Given the description of an element on the screen output the (x, y) to click on. 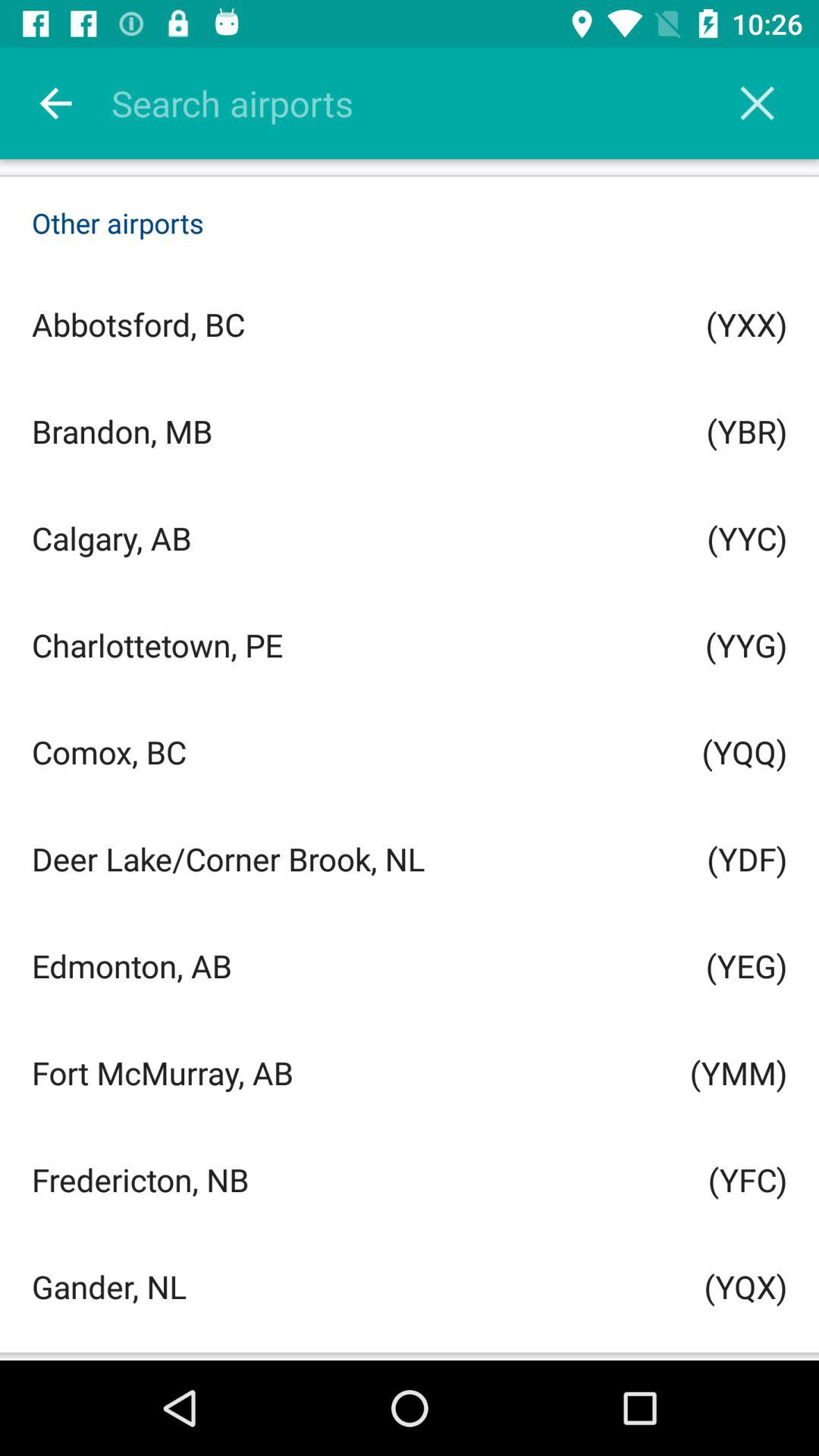
close the options (757, 103)
